Given the description of an element on the screen output the (x, y) to click on. 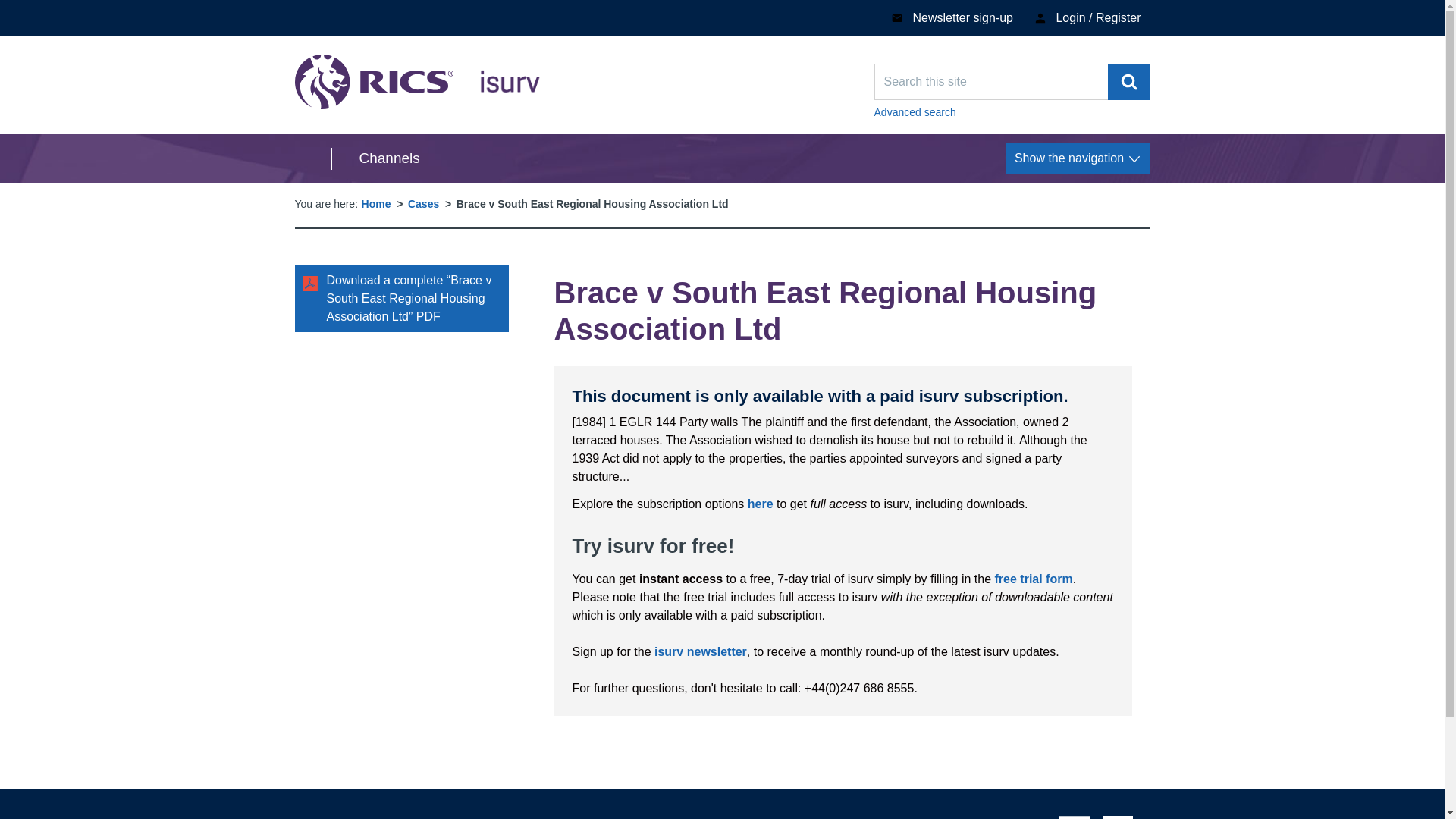
Advanced search (1012, 112)
Cases (423, 203)
isurv newsletter (417, 81)
Home (699, 651)
Show the navigation (376, 203)
Search (1078, 158)
free trial form (1128, 81)
Channels (1033, 578)
here (374, 158)
